Given the description of an element on the screen output the (x, y) to click on. 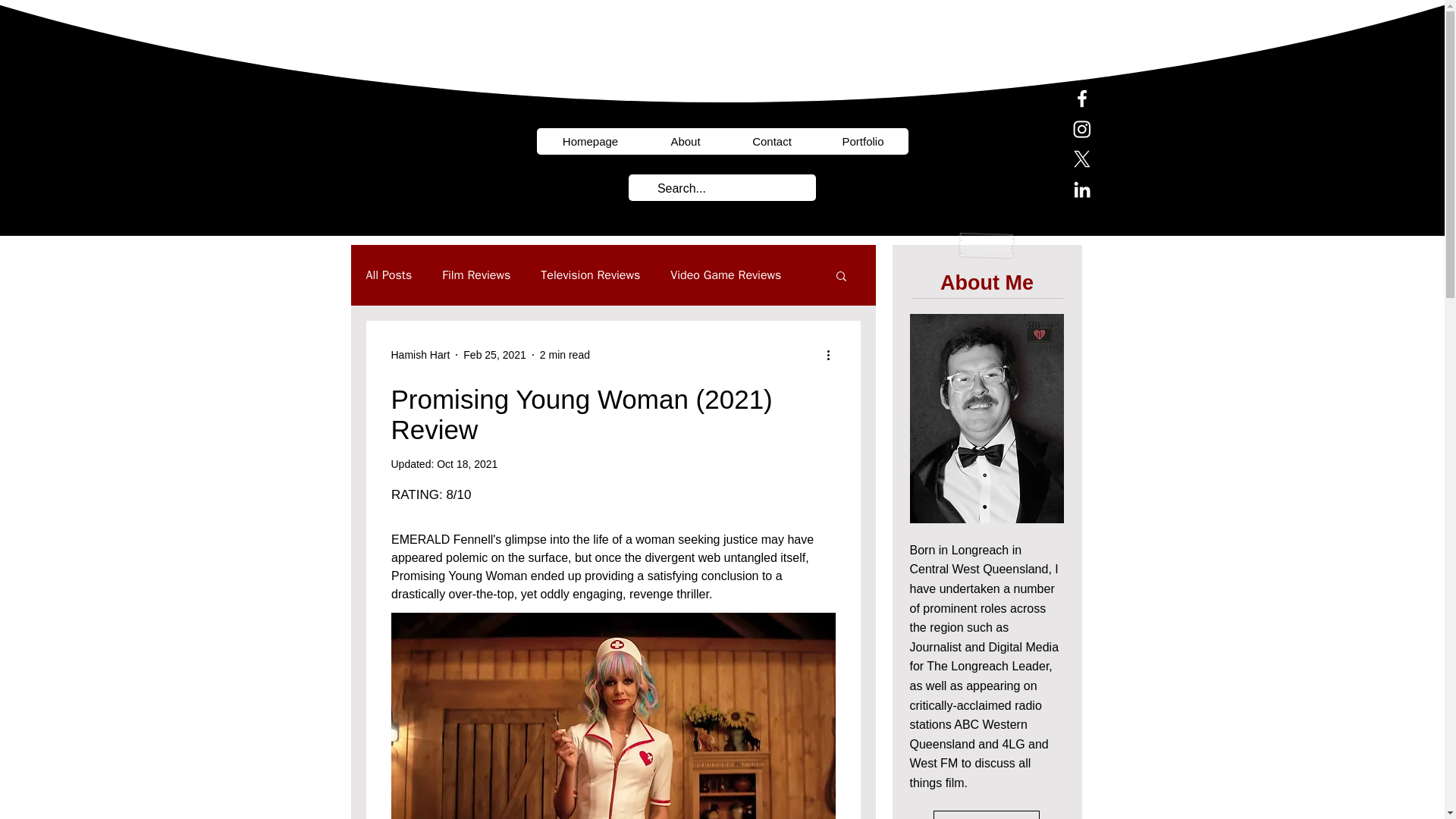
Video Game Reviews (724, 274)
2 min read (564, 354)
Television Reviews (590, 274)
Read More (986, 814)
All Posts (388, 274)
Film Reviews (476, 274)
About (685, 140)
Hamish Hart (420, 355)
Homepage (591, 140)
Feb 25, 2021 (494, 354)
